Given the description of an element on the screen output the (x, y) to click on. 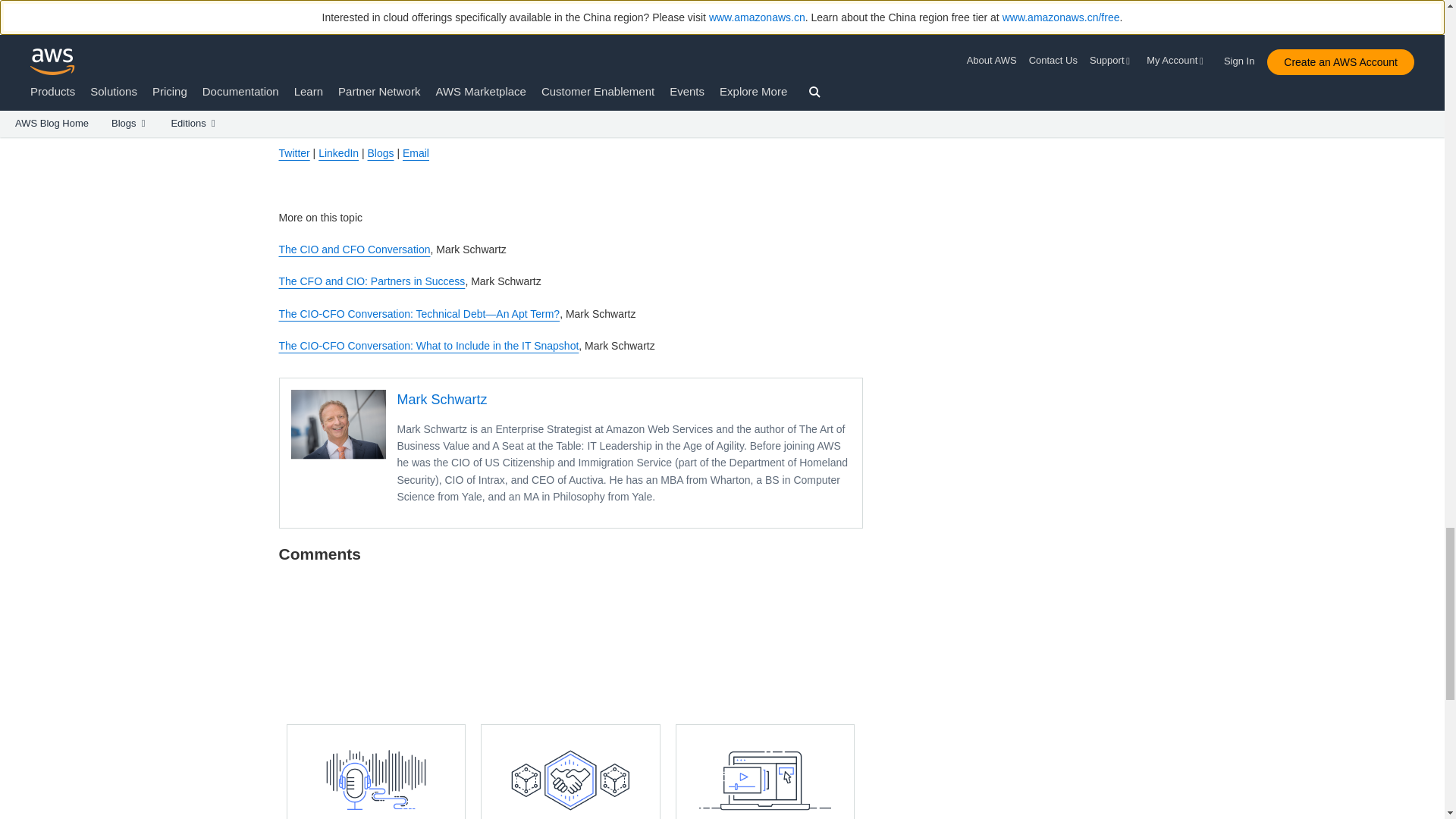
Posts by Mark Schwartz (442, 399)
